Given the description of an element on the screen output the (x, y) to click on. 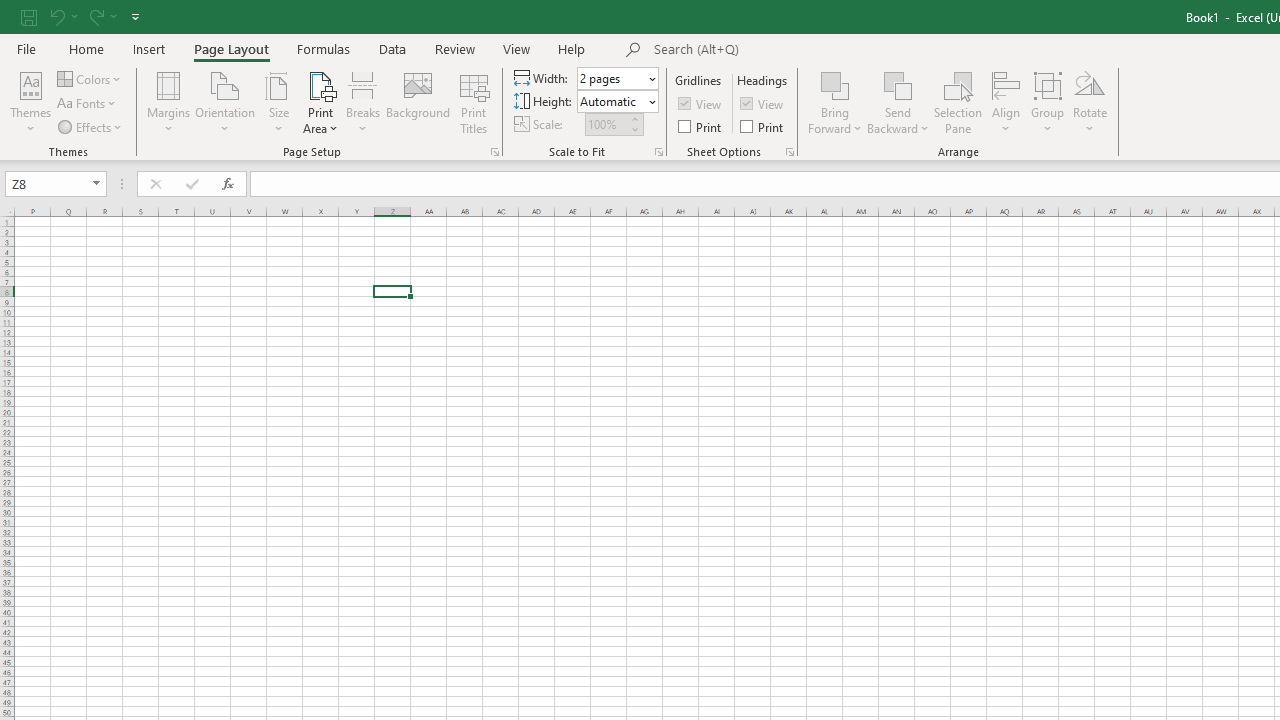
Margins (168, 102)
More (633, 118)
Orientation (225, 102)
Bring Forward (835, 102)
Themes (30, 102)
Scale (605, 124)
Sheet Options (789, 151)
Selection Pane... (958, 102)
Background... (418, 102)
Width (618, 78)
